Given the description of an element on the screen output the (x, y) to click on. 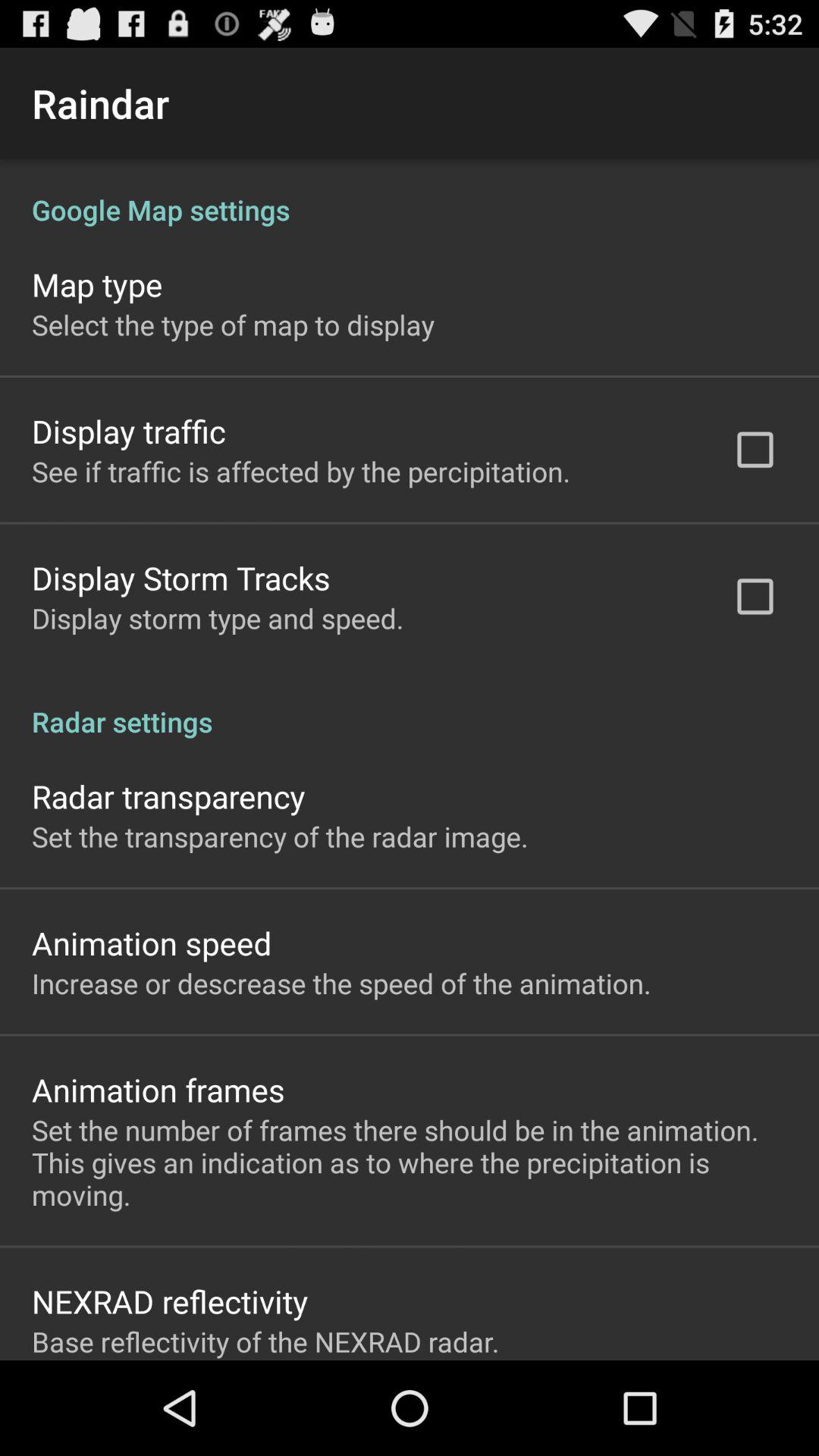
launch the icon below the select the type icon (128, 430)
